Given the description of an element on the screen output the (x, y) to click on. 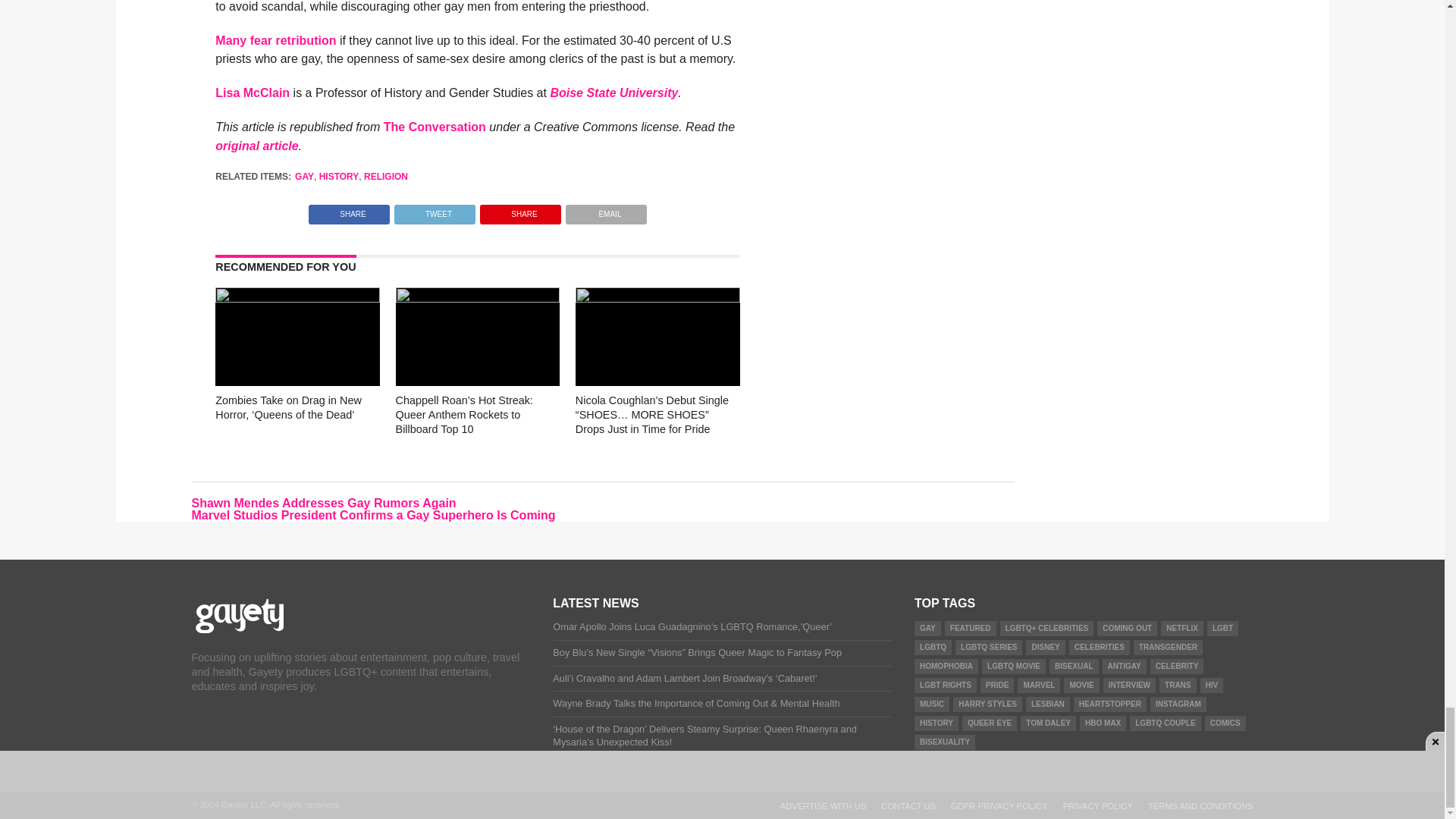
Tweet This Post (434, 210)
Pin This Post (520, 210)
Share on Facebook (349, 210)
